Given the description of an element on the screen output the (x, y) to click on. 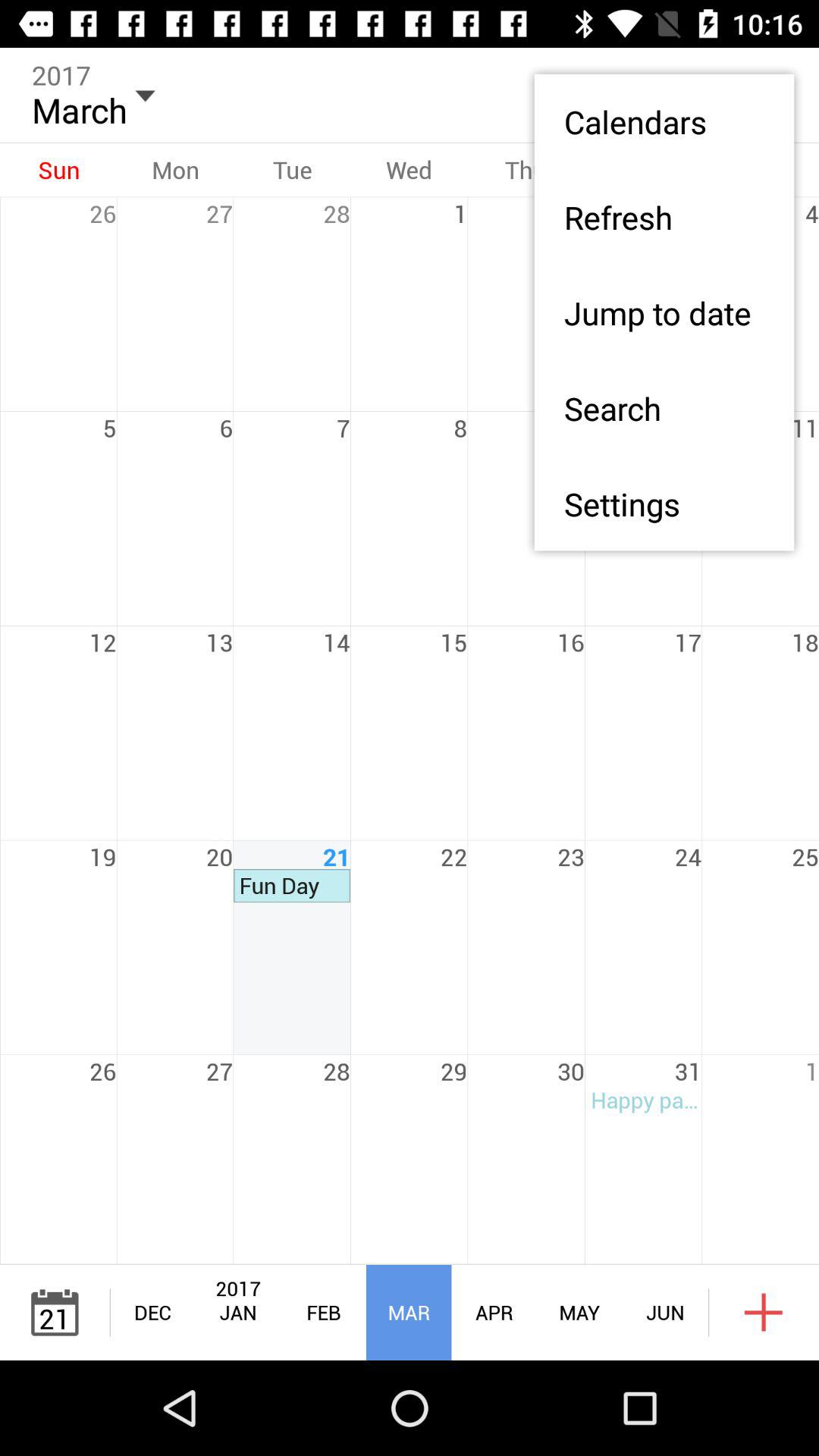
tap icon above the search app (664, 312)
